Given the description of an element on the screen output the (x, y) to click on. 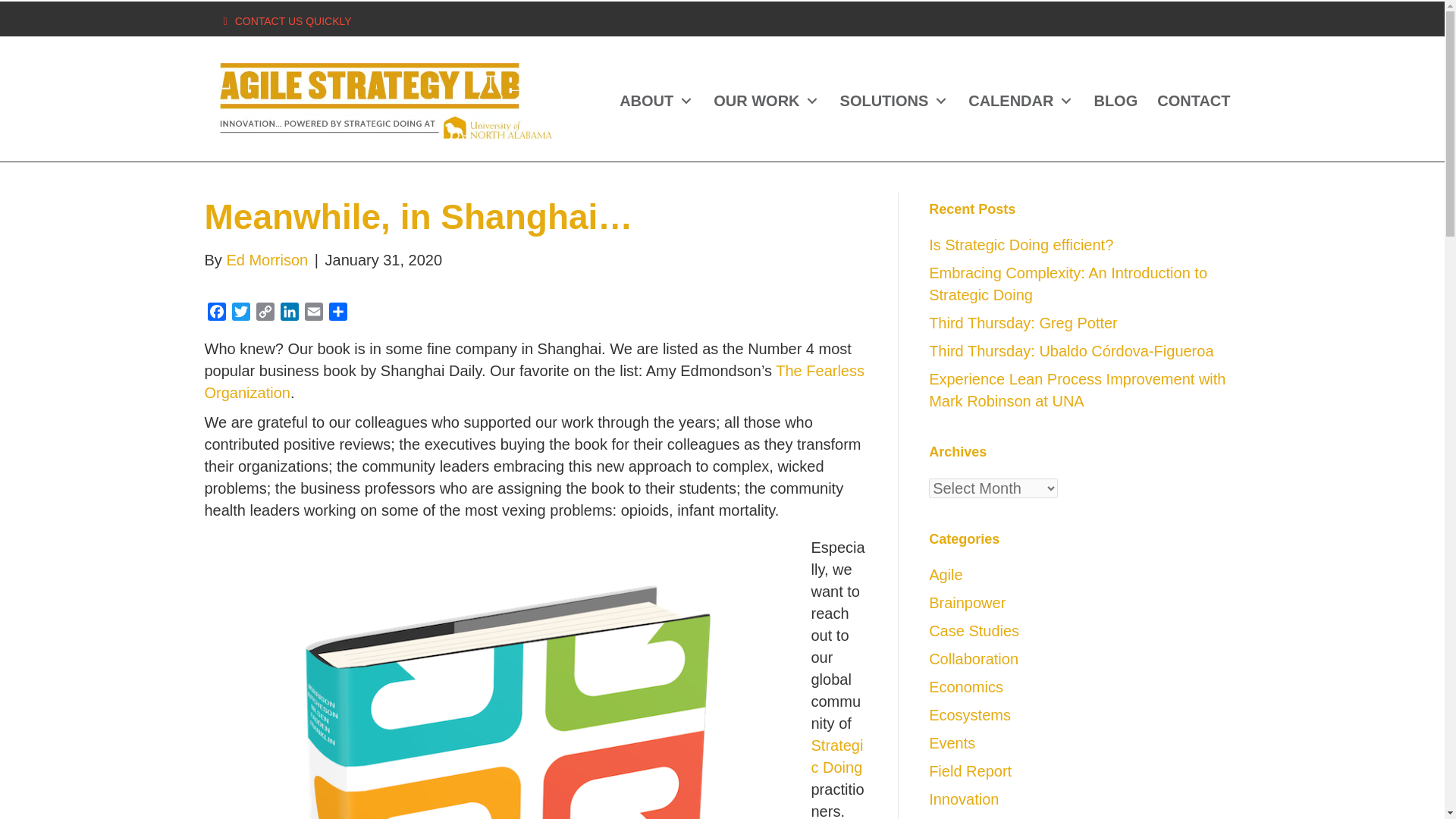
Twitter (240, 313)
CALENDAR (1020, 100)
LinkedIn (289, 313)
ASL-logo (385, 100)
Strategic Doing (836, 756)
The Fearless Organization (534, 381)
Facebook (216, 313)
OUR WORK (766, 100)
Facebook (216, 313)
ABOUT (656, 100)
CONTACT (1193, 100)
Email (313, 313)
Copy Link (265, 313)
Twitter (240, 313)
LinkedIn (289, 313)
